Given the description of an element on the screen output the (x, y) to click on. 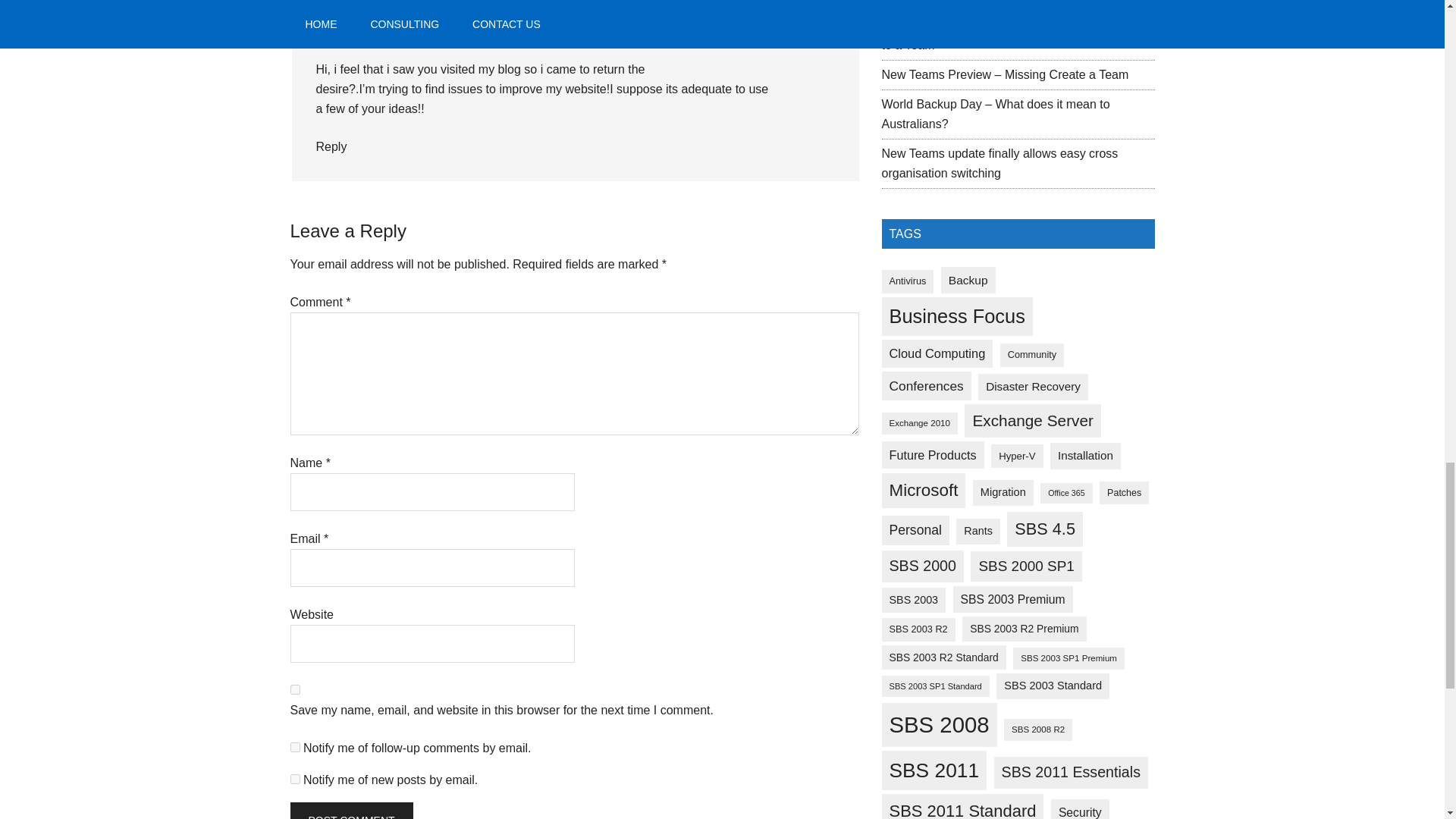
subscribe (294, 778)
yes (294, 689)
June 8, 2014 at 11:20 pm (433, 31)
Post Comment (350, 810)
Reply (330, 146)
subscribe (294, 747)
Post Comment (350, 810)
test2 (378, 11)
